Given the description of an element on the screen output the (x, y) to click on. 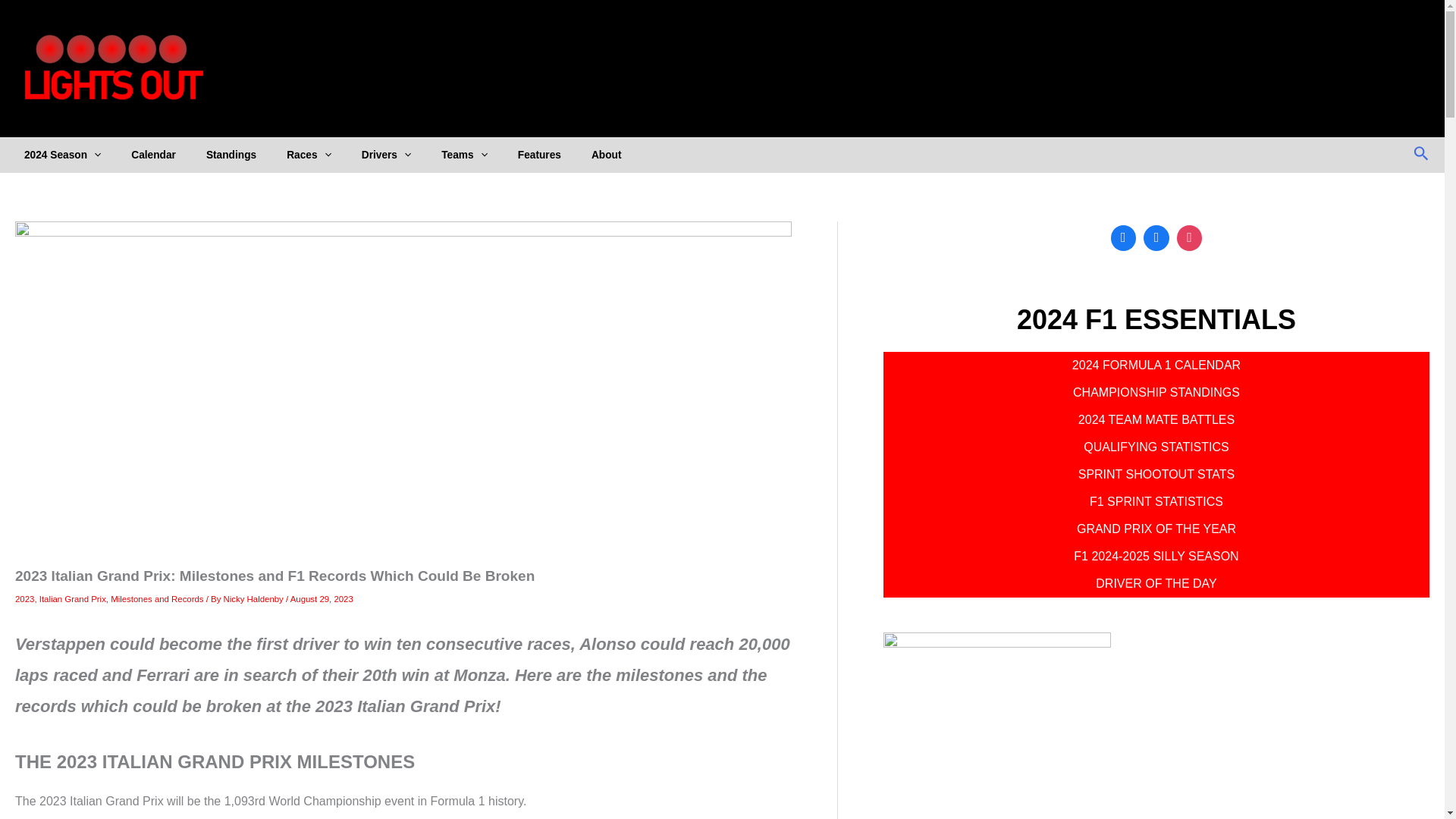
Facebook (1156, 237)
Twitter (1123, 237)
Calendar (168, 154)
View all posts by Nicky Haldenby (253, 598)
Instagram (1190, 237)
2024 Season (77, 154)
Races (323, 154)
Standings (246, 154)
